Given the description of an element on the screen output the (x, y) to click on. 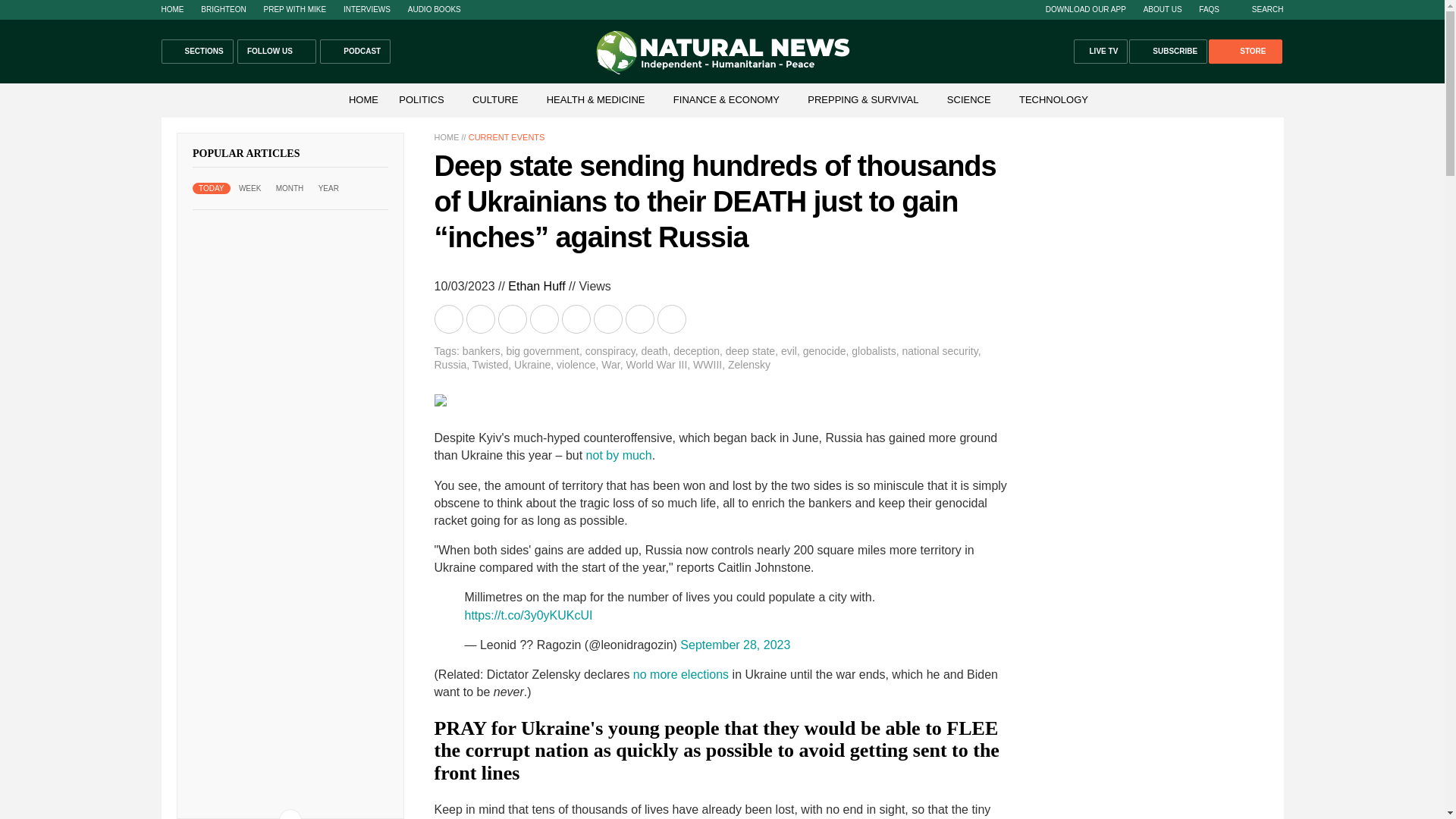
FAQS (1209, 8)
PODCAST (355, 51)
LIVE TV (1101, 51)
INTERVIEWS (366, 8)
Share on Gettr (640, 318)
Share on Brighteon.Social (449, 318)
Share on Twitter (513, 318)
STORE (1244, 51)
Share on Telegram (544, 318)
CULTURE (495, 99)
DOWNLOAD OUR APP (1085, 8)
SCIENCE (968, 99)
AUDIO BOOKS (434, 8)
Scroll Down (290, 814)
More Share Options (672, 318)
